Given the description of an element on the screen output the (x, y) to click on. 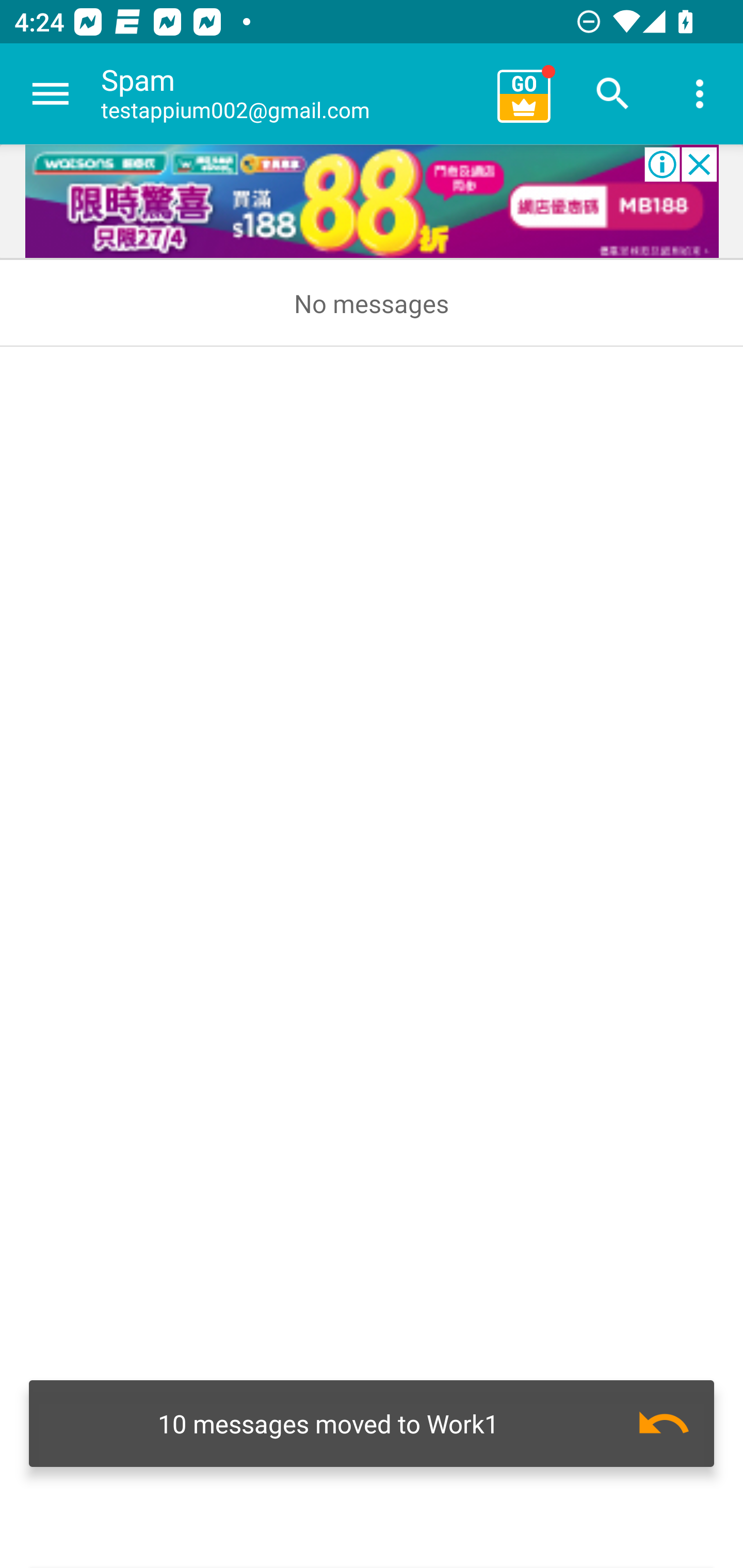
Navigate up (50, 93)
Spam testappium002@gmail.com (291, 93)
Search (612, 93)
More options (699, 93)
Advertisement (371, 202)
No messages (371, 303)
Undo 10 messages moved to Work1 (371, 1423)
